Given the description of an element on the screen output the (x, y) to click on. 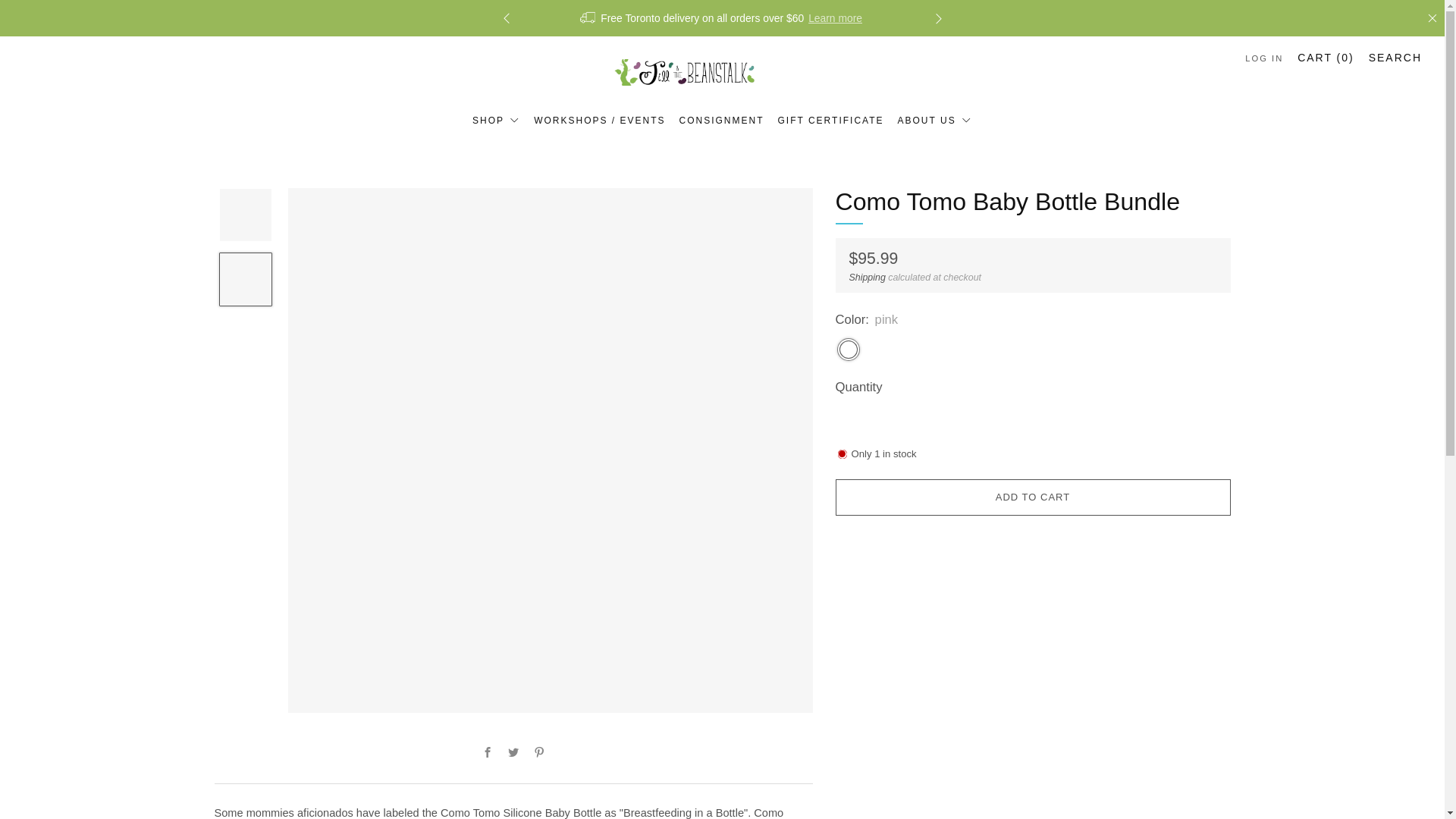
ABOUT US (935, 120)
GIFT CERTIFICATE (830, 120)
CONSIGNMENT (721, 120)
Learn more (1230, 18)
SHOP (495, 120)
Learn more (834, 18)
